Given the description of an element on the screen output the (x, y) to click on. 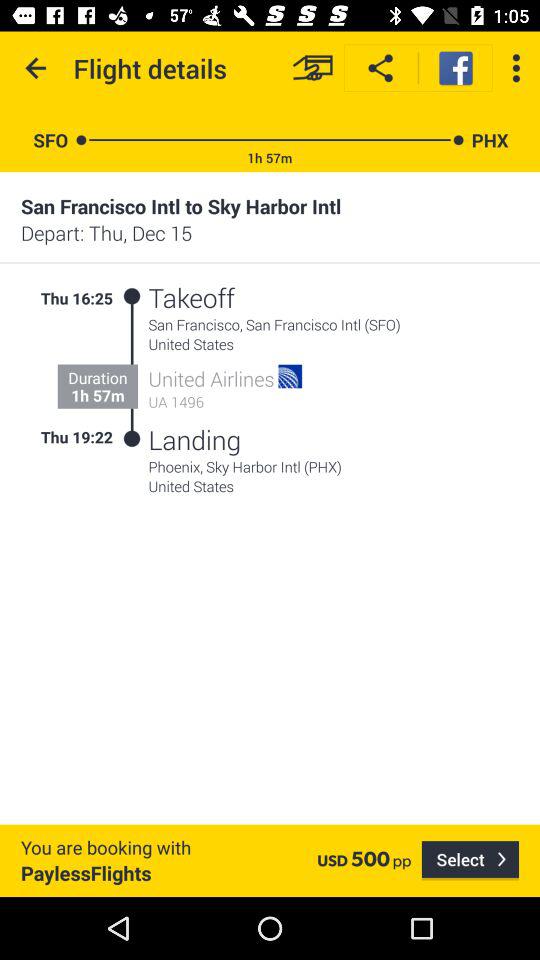
tap the item above phx icon (516, 67)
